Given the description of an element on the screen output the (x, y) to click on. 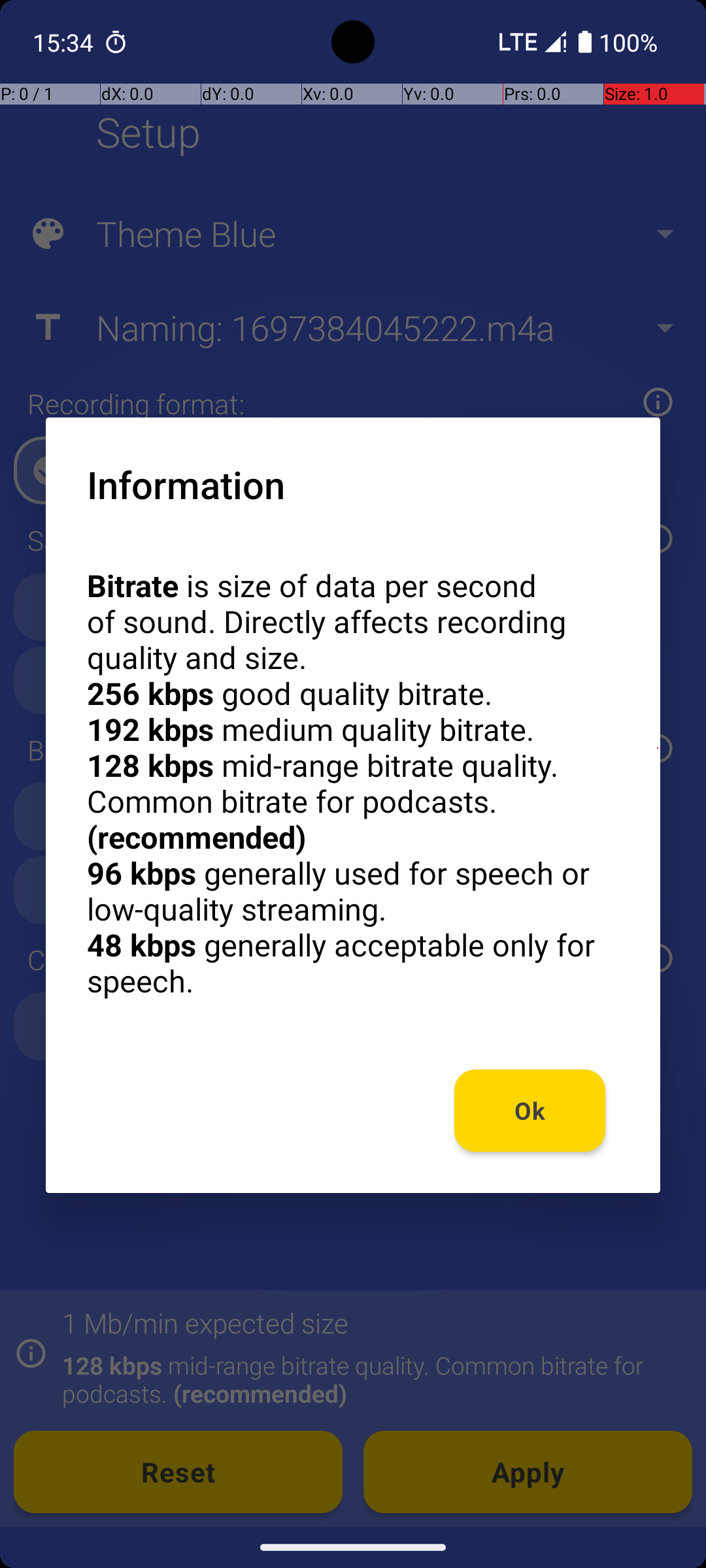
Information Element type: android.widget.TextView (185, 483)
Bitrate is size of data per second of sound. Directly affects recording quality and size. 
256 kbps good quality bitrate. 
192 kbps medium quality bitrate. 
128 kbps mid-range bitrate quality. Common bitrate for podcasts. (recommended) 
96 kbps generally used for speech or low-quality streaming. 
48 kbps generally acceptable only for speech.  Element type: android.widget.TextView (352, 782)
Ok Element type: android.widget.Button (529, 1110)
